Given the description of an element on the screen output the (x, y) to click on. 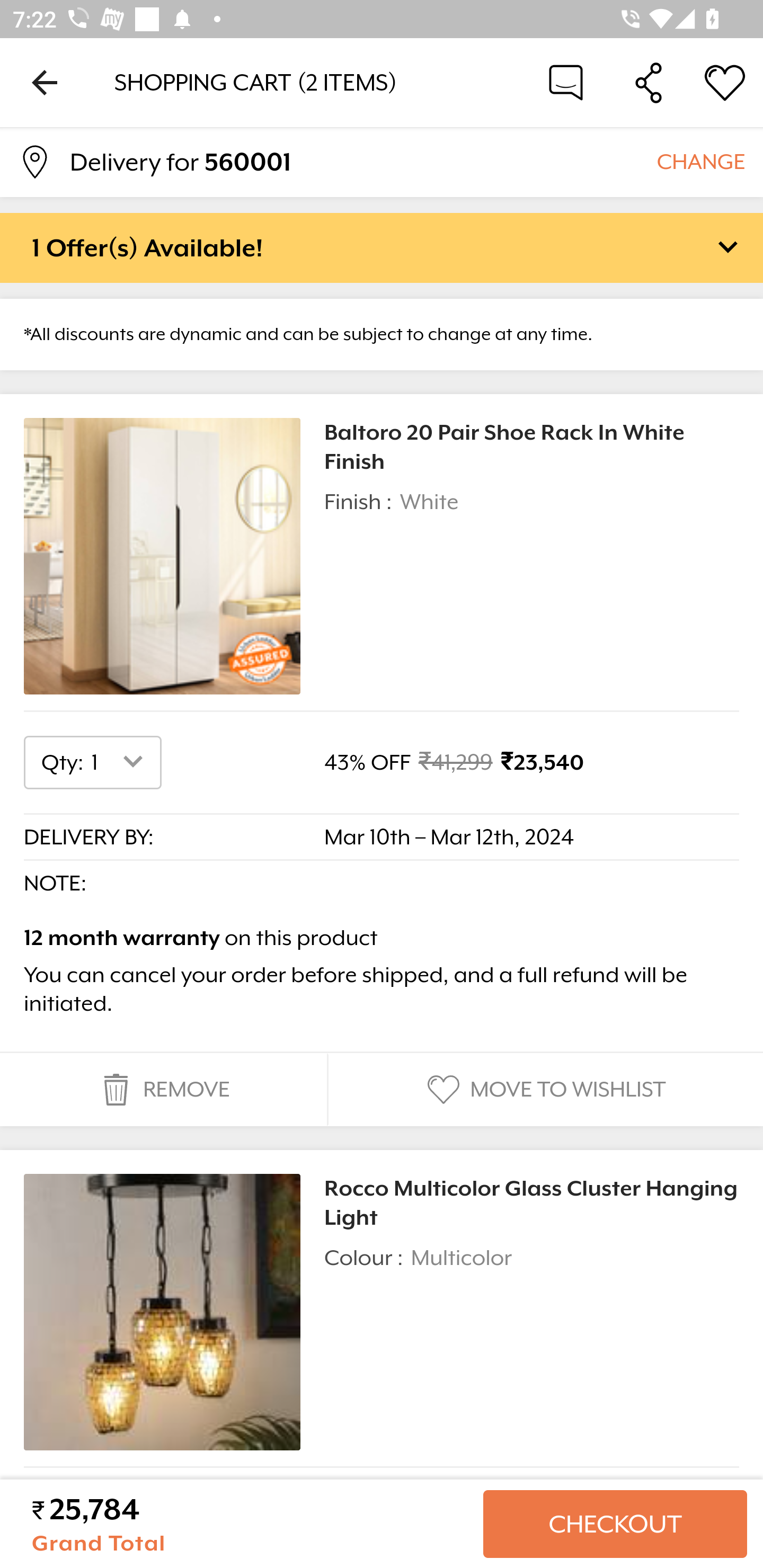
Navigate up (44, 82)
Chat (565, 81)
Share Cart (648, 81)
Wishlist (724, 81)
CHANGE (700, 161)
1 Offer(s) Available! (381, 247)
1 (121, 761)
REMOVE (163, 1089)
MOVE TO WISHLIST (544, 1089)
₹ 25,784 Grand Total (250, 1523)
CHECKOUT (614, 1523)
